Given the description of an element on the screen output the (x, y) to click on. 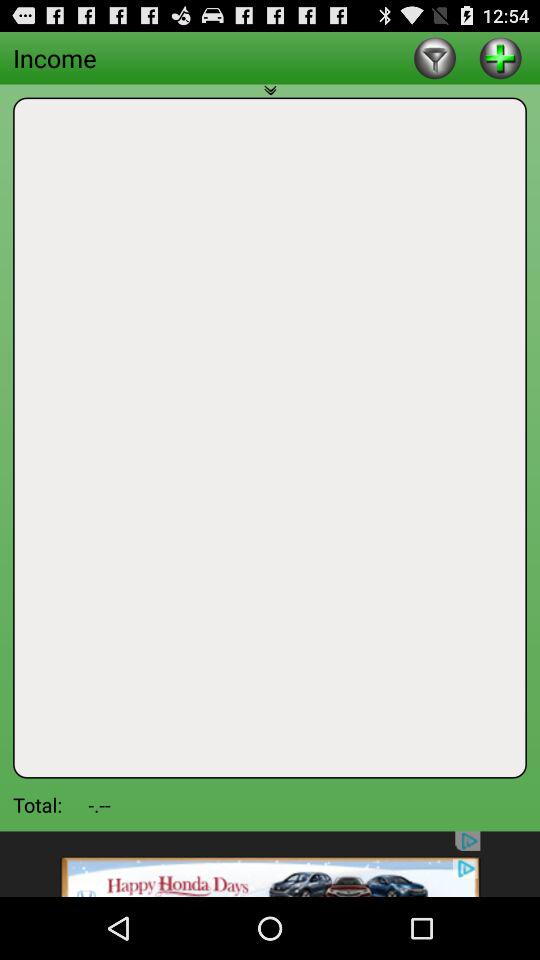
add to the list (500, 57)
